Given the description of an element on the screen output the (x, y) to click on. 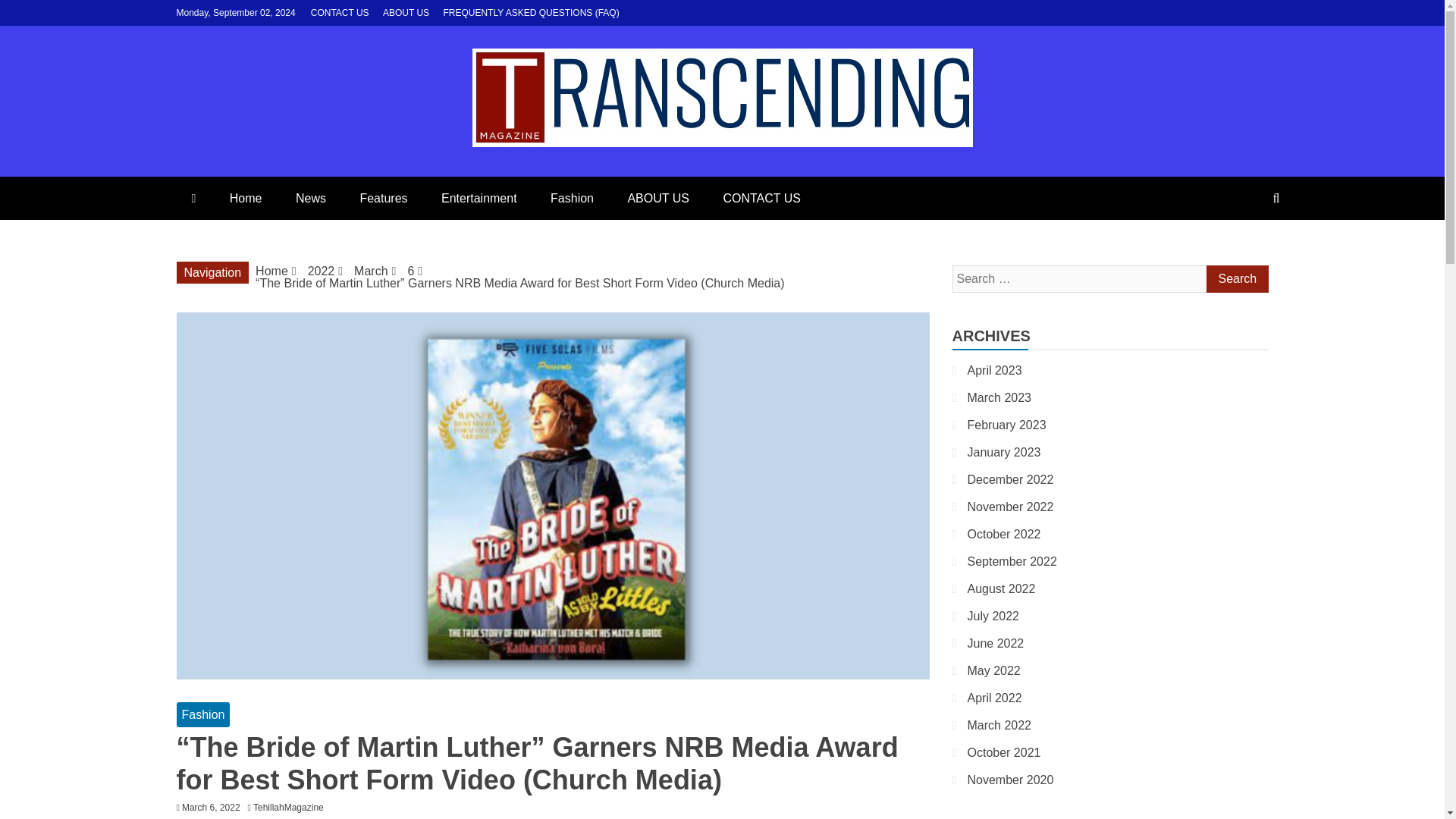
Entertainment (479, 198)
Search (1236, 278)
CONTACT US (340, 12)
Home (246, 198)
CONTACT US (761, 198)
March 6, 2022 (211, 807)
Home (272, 270)
ABOUT US (657, 198)
ABOUT US (405, 12)
Fashion (571, 198)
